Given the description of an element on the screen output the (x, y) to click on. 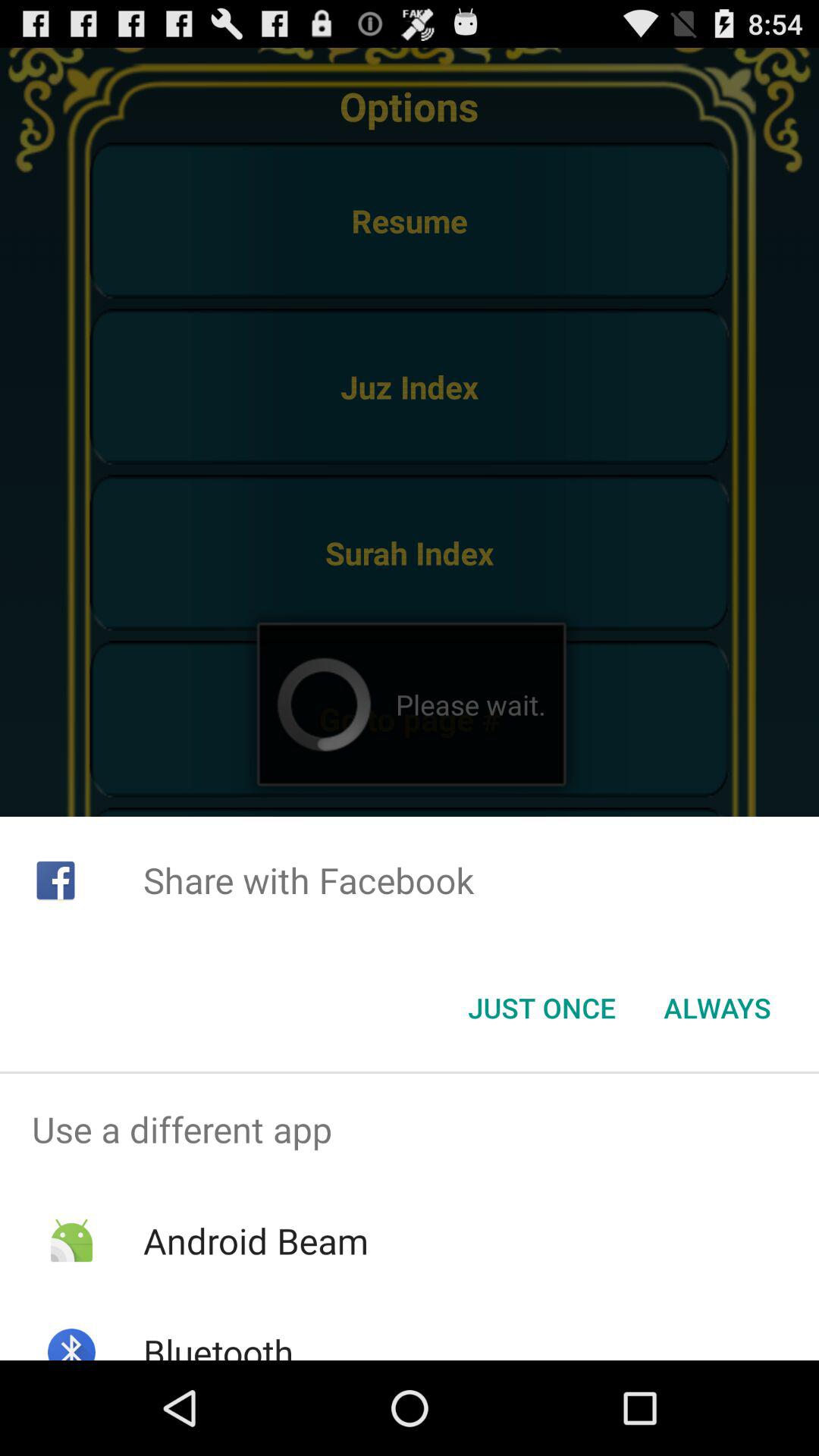
turn off always at the bottom right corner (717, 1007)
